Given the description of an element on the screen output the (x, y) to click on. 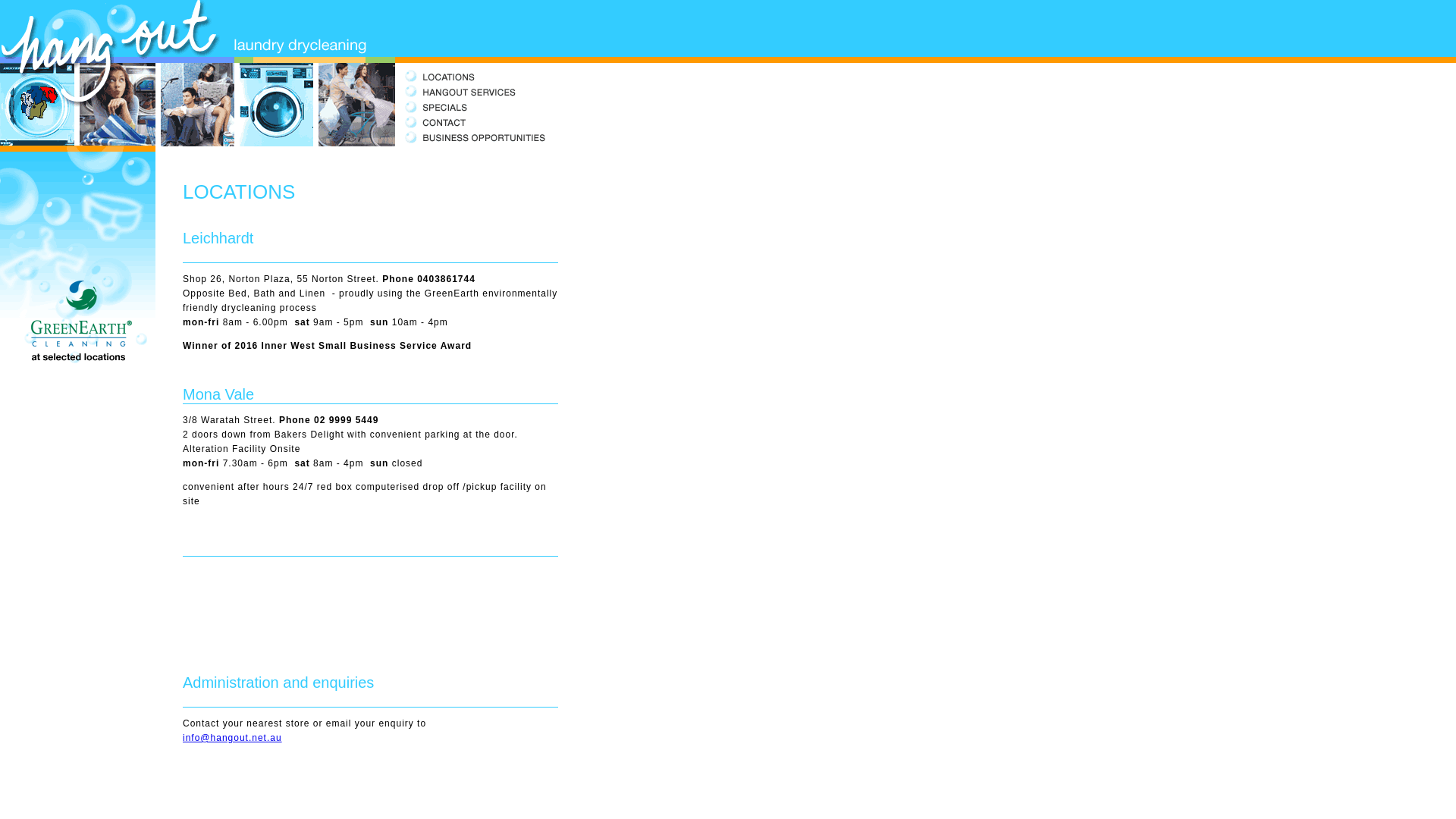
info@hangout.net.au Element type: text (232, 737)
